Given the description of an element on the screen output the (x, y) to click on. 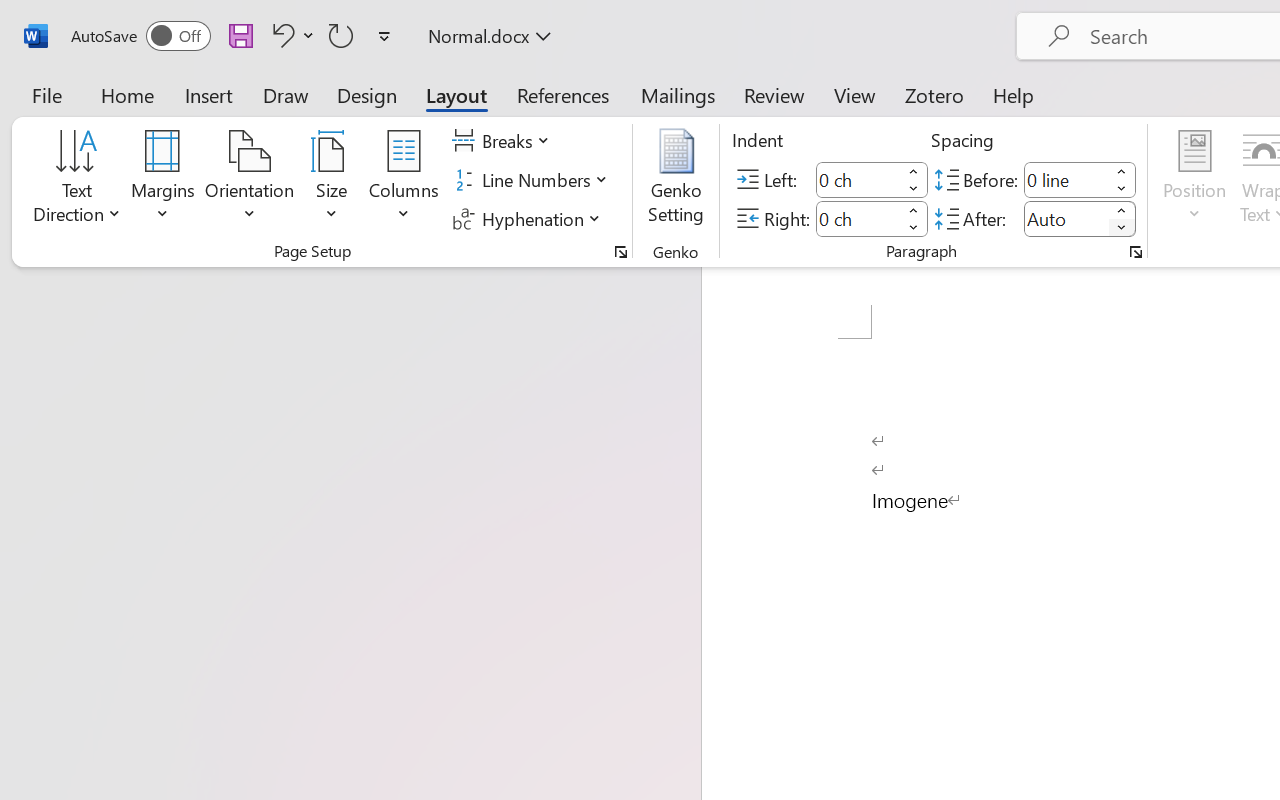
Size (331, 179)
Page Setup... (621, 252)
Hyphenation (529, 218)
Repeat Paragraph Formatting (341, 35)
Less (1121, 227)
Genko Setting... (676, 179)
